Given the description of an element on the screen output the (x, y) to click on. 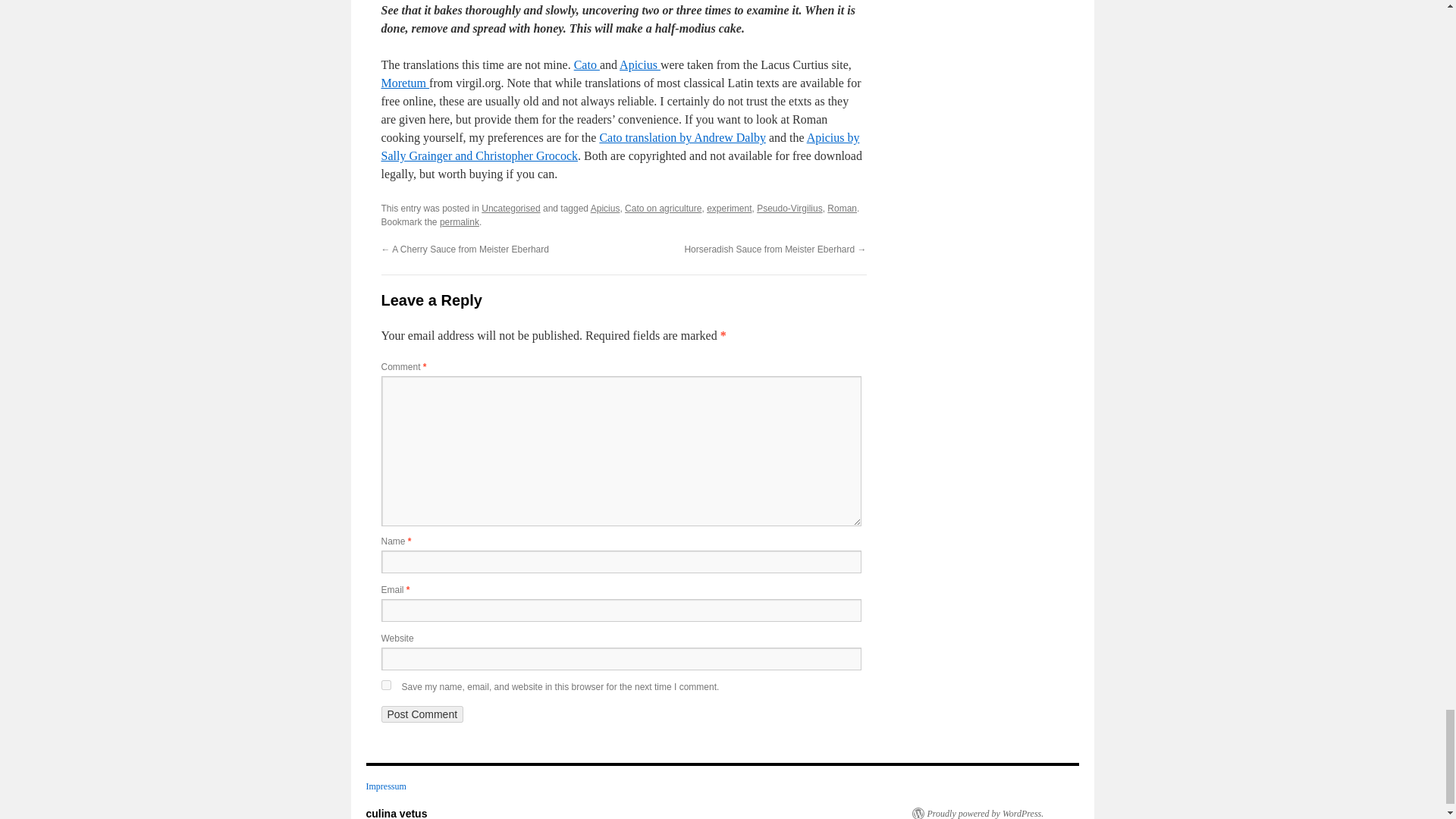
Uncategorised (510, 208)
Cato translation by Andrew Dalby (681, 137)
Apicius (605, 208)
Roman (842, 208)
experiment (728, 208)
Pseudo-Virgilius (789, 208)
Post Comment (421, 713)
Apicius by Sally Grainger and Christopher Grocock (619, 146)
Moretum (404, 82)
Permalink to A Roman Supper before Trier (459, 222)
